Given the description of an element on the screen output the (x, y) to click on. 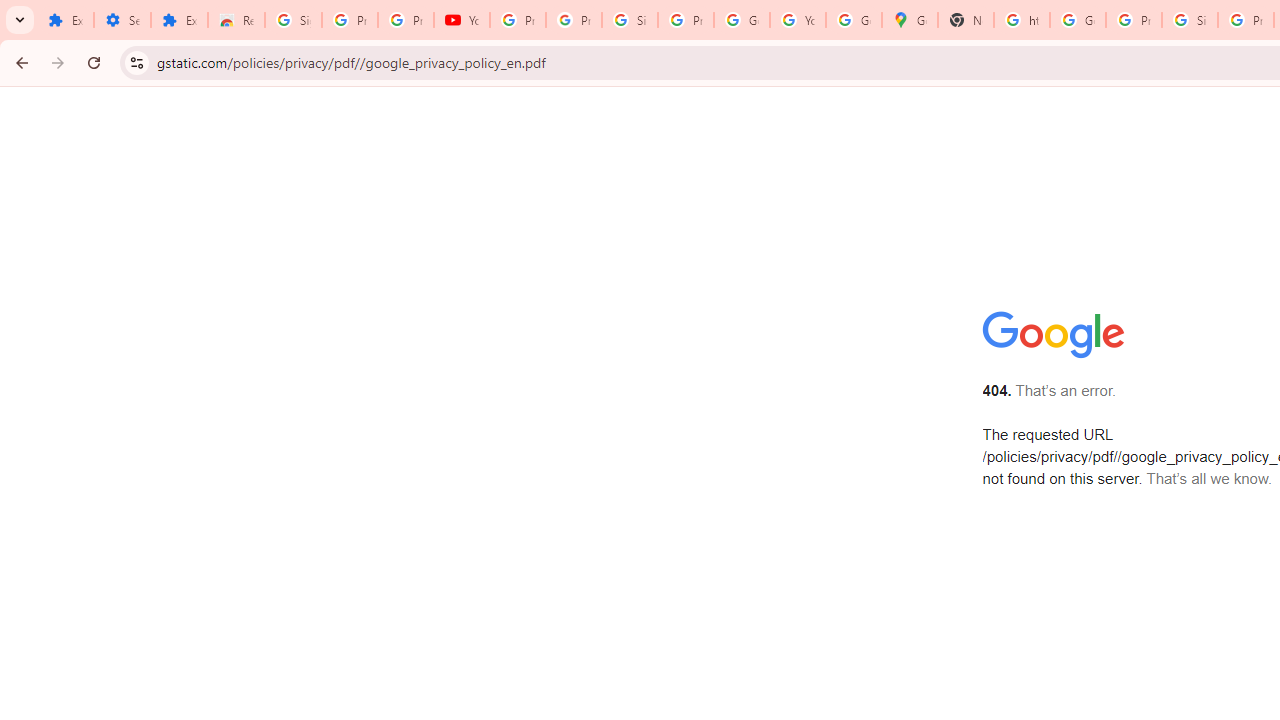
Google Maps (909, 20)
Extensions (65, 20)
Reviews: Helix Fruit Jump Arcade Game (235, 20)
Sign in - Google Accounts (629, 20)
New Tab (966, 20)
